Given the description of an element on the screen output the (x, y) to click on. 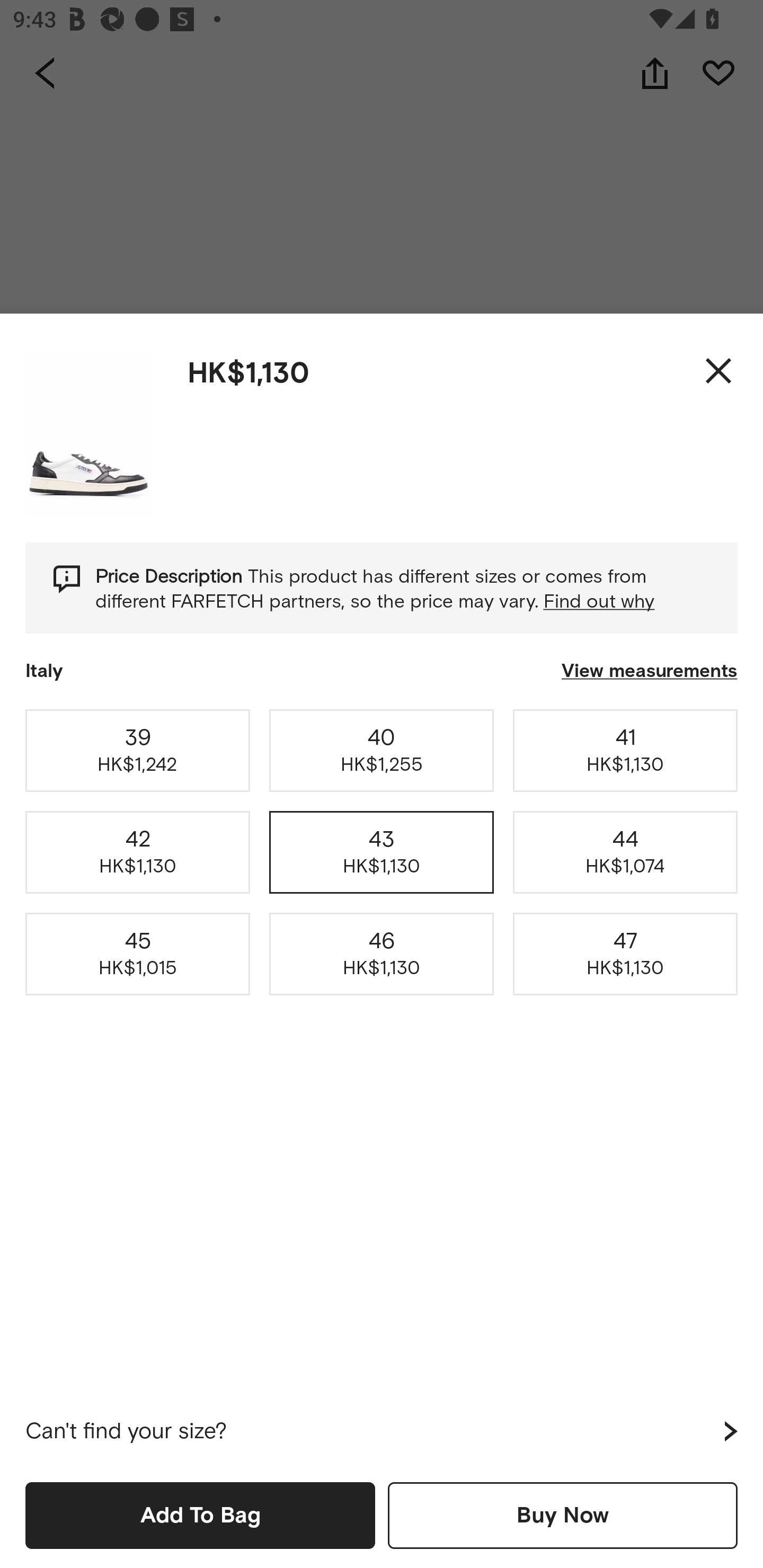
39 HK$1,242 (137, 749)
40 HK$1,255 (381, 749)
41 HK$1,130 (624, 749)
42 HK$1,130 (137, 851)
43 HK$1,130 (381, 851)
44 HK$1,074 (624, 851)
45 HK$1,015 (137, 953)
46 HK$1,130 (381, 953)
47 HK$1,130 (624, 953)
Can't find your size? (381, 1431)
Add To Bag (200, 1515)
Buy Now (562, 1515)
